Given the description of an element on the screen output the (x, y) to click on. 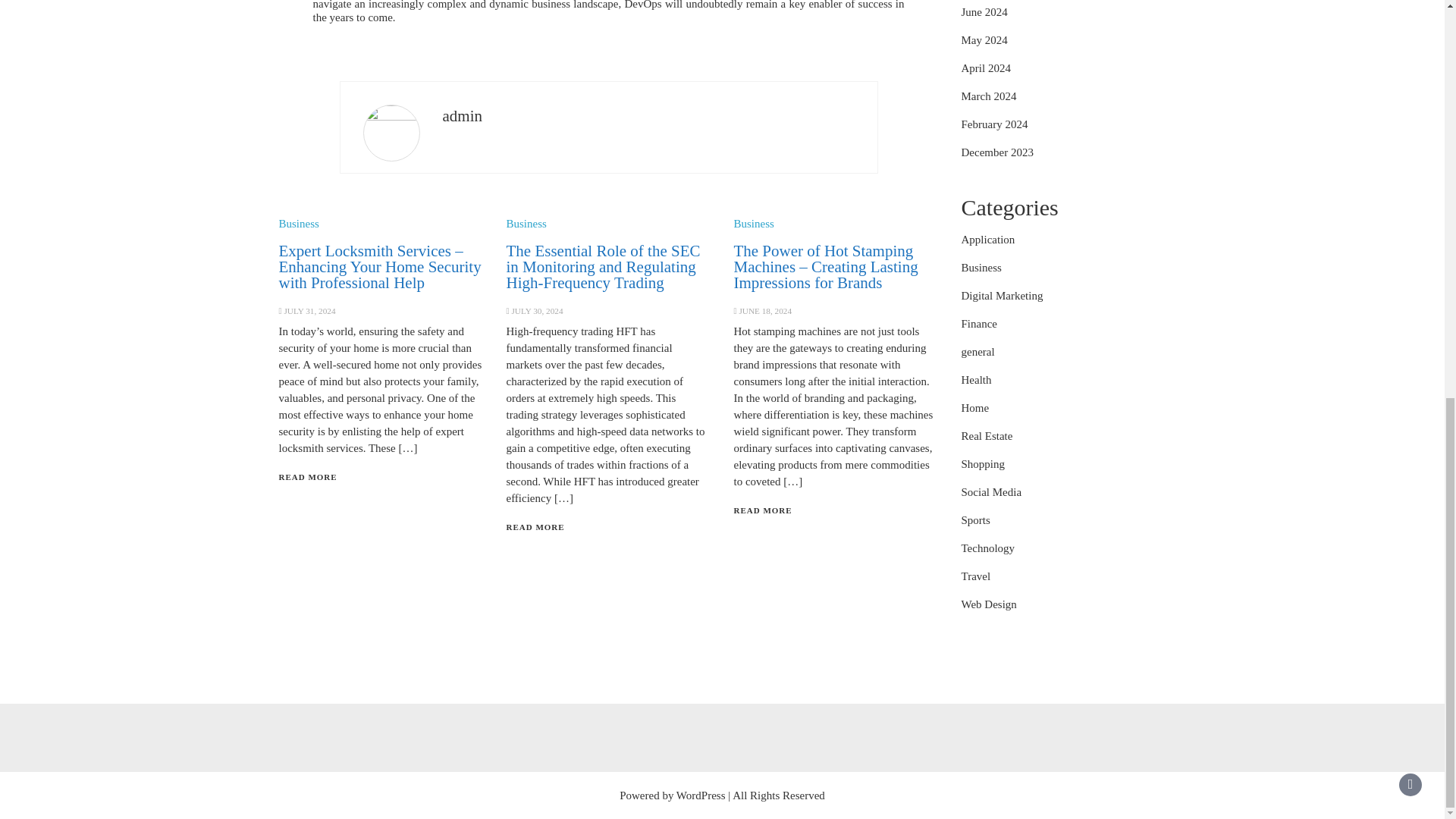
December 2023 (996, 152)
Business (525, 223)
Business (298, 223)
admin (462, 116)
Application (987, 239)
READ MORE (534, 526)
June 2024 (983, 11)
JULY 30, 2024 (536, 310)
Business (753, 223)
February 2024 (993, 123)
